Given the description of an element on the screen output the (x, y) to click on. 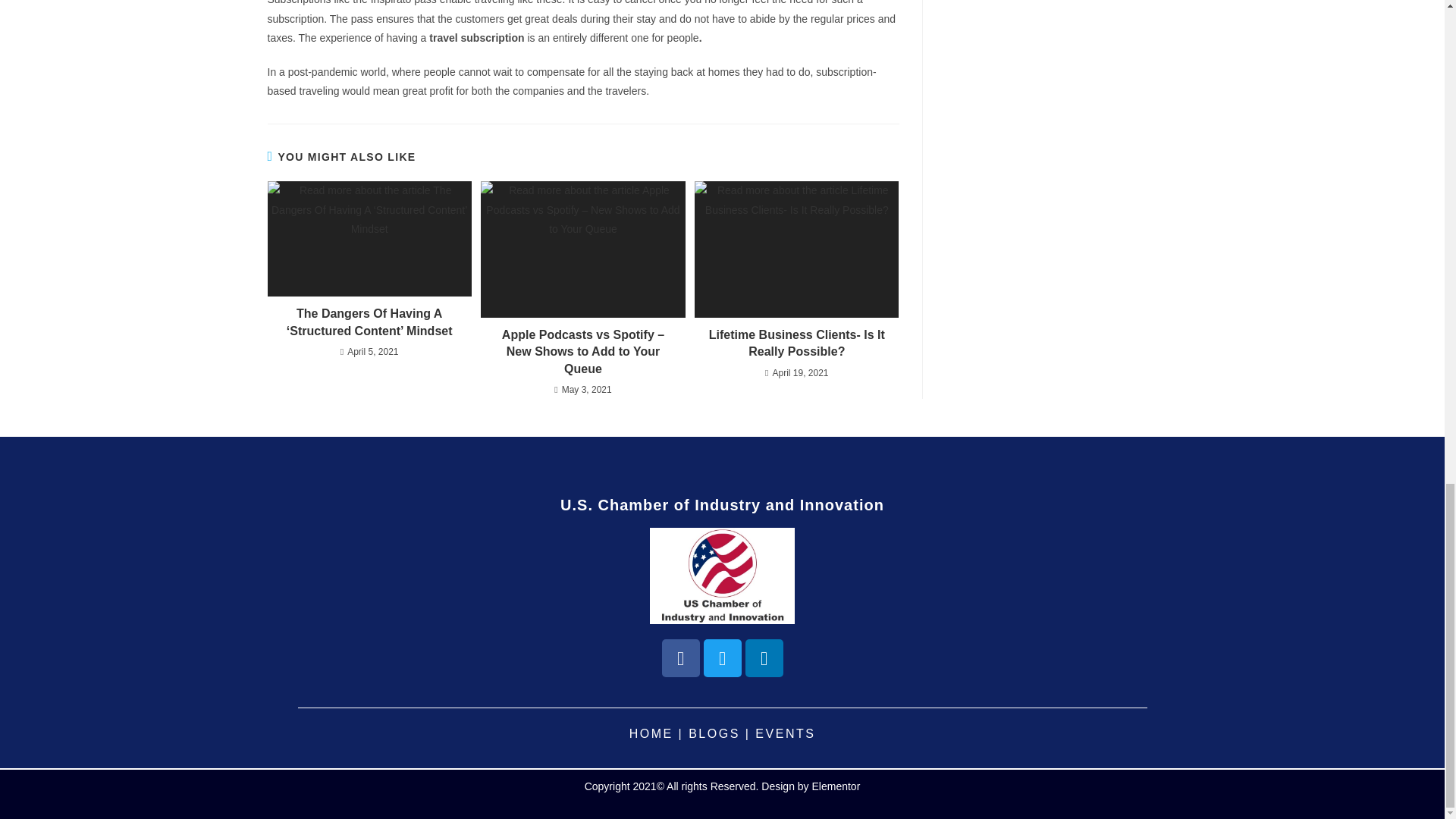
HOME (650, 733)
EVENTS (785, 733)
Lifetime Business Clients- Is It Really Possible? (796, 343)
BLOGS (713, 733)
U.S. Chamber of Industry and Innovation (721, 504)
